Given the description of an element on the screen output the (x, y) to click on. 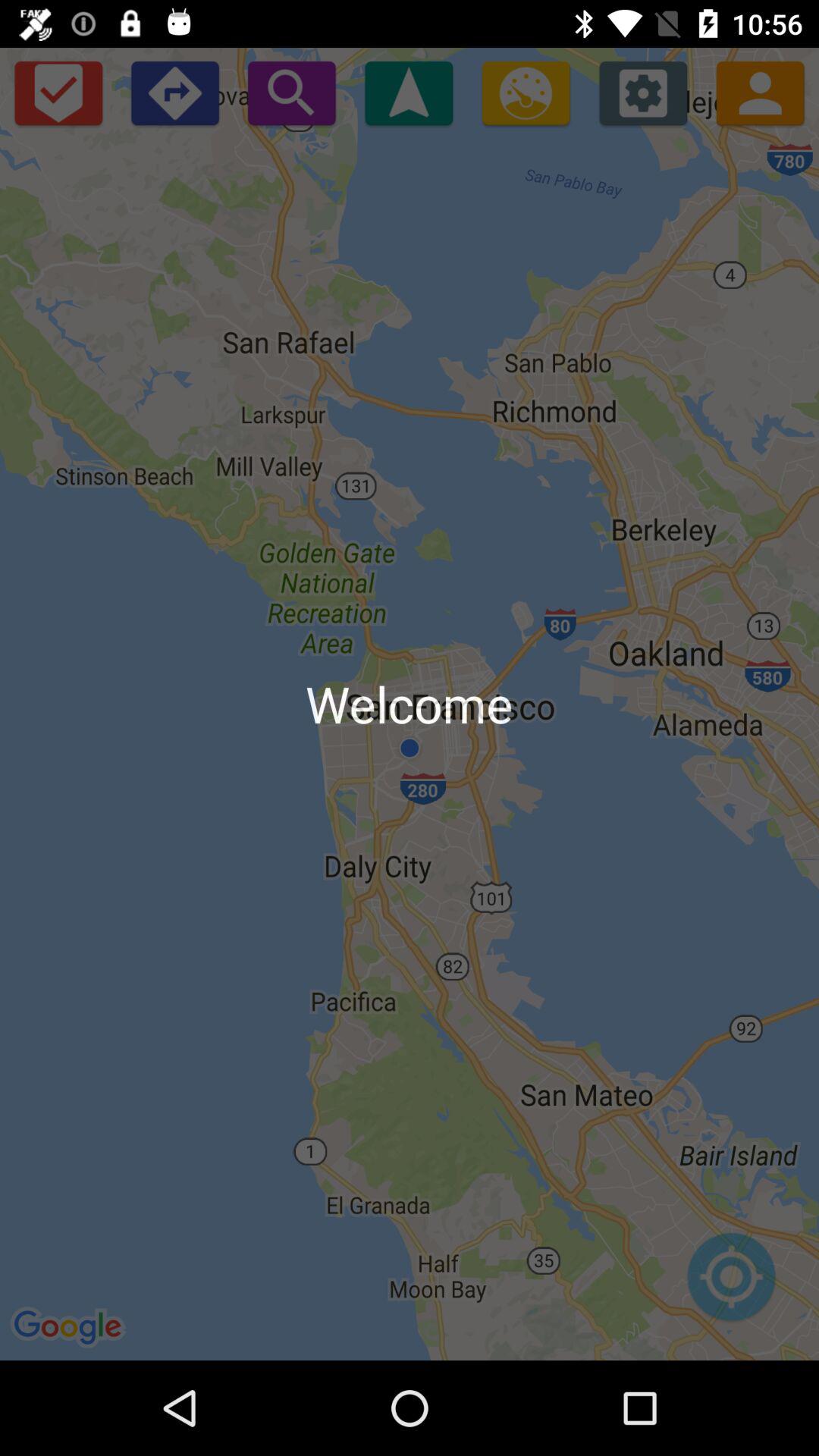
contact list (760, 92)
